Given the description of an element on the screen output the (x, y) to click on. 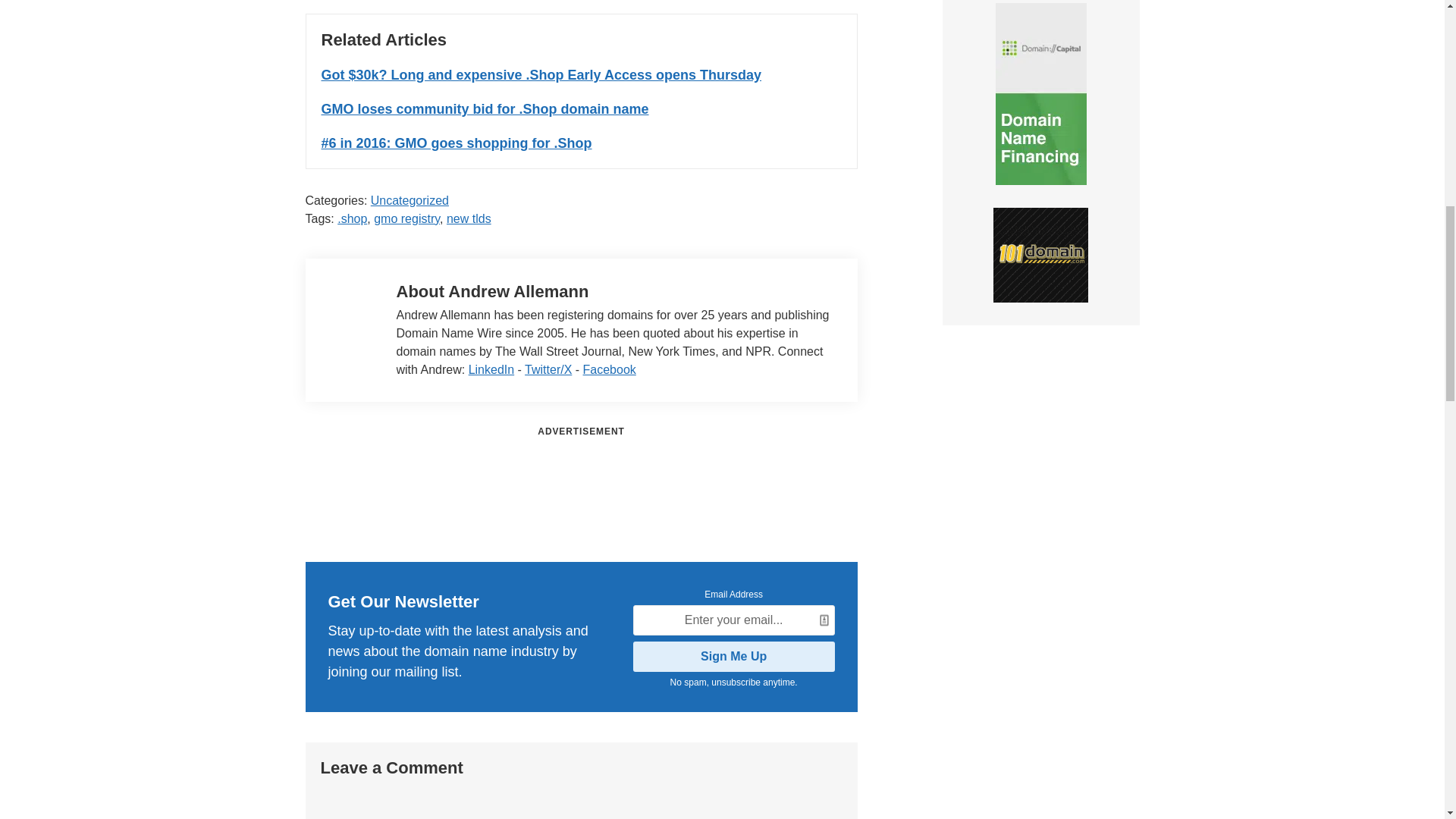
GMO loses community bid for .Shop domain name (485, 109)
Comment Form (580, 803)
Sign Me Up (733, 656)
